Given the description of an element on the screen output the (x, y) to click on. 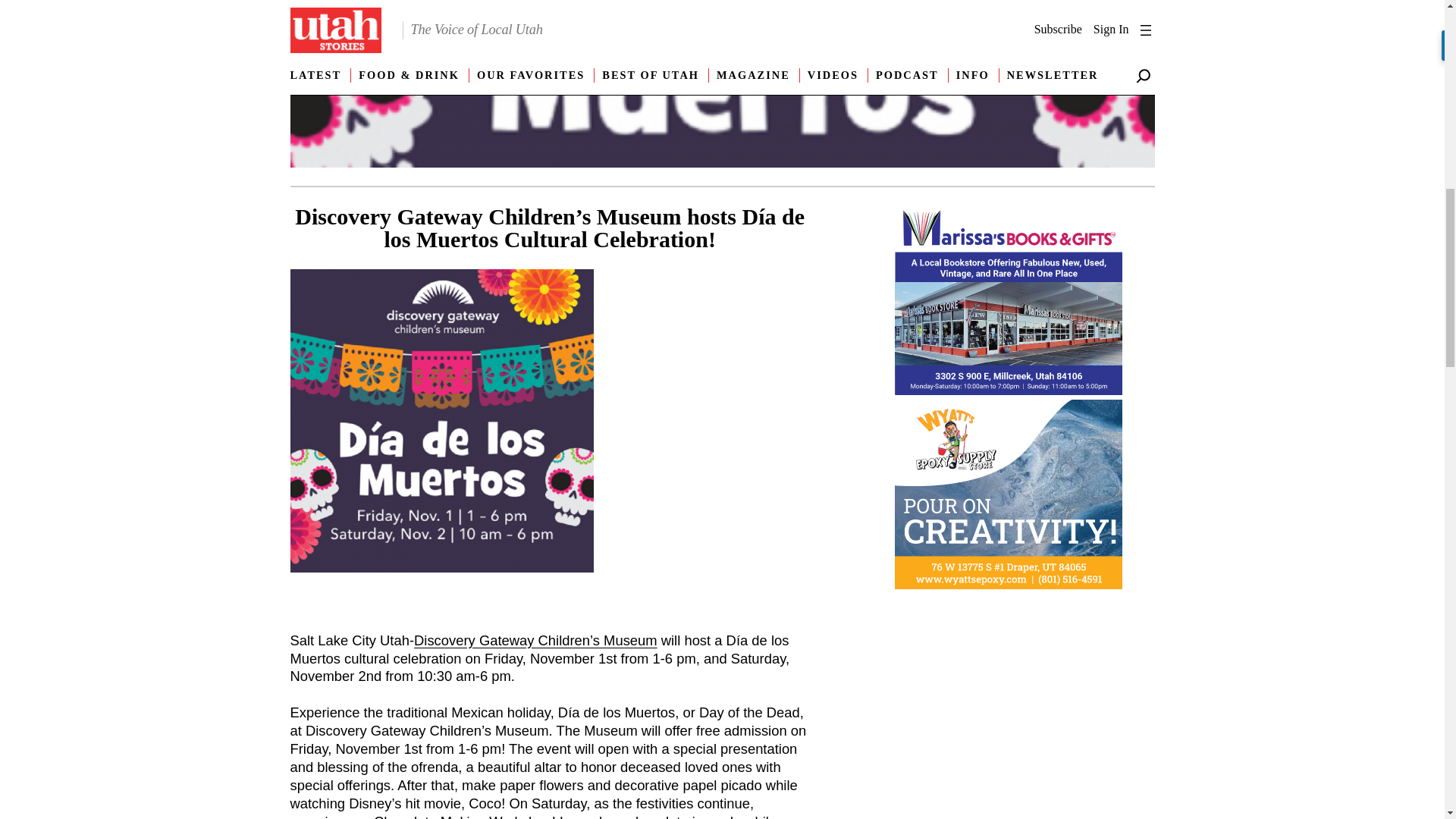
side ad (1008, 302)
sidbar (1008, 496)
